Given the description of an element on the screen output the (x, y) to click on. 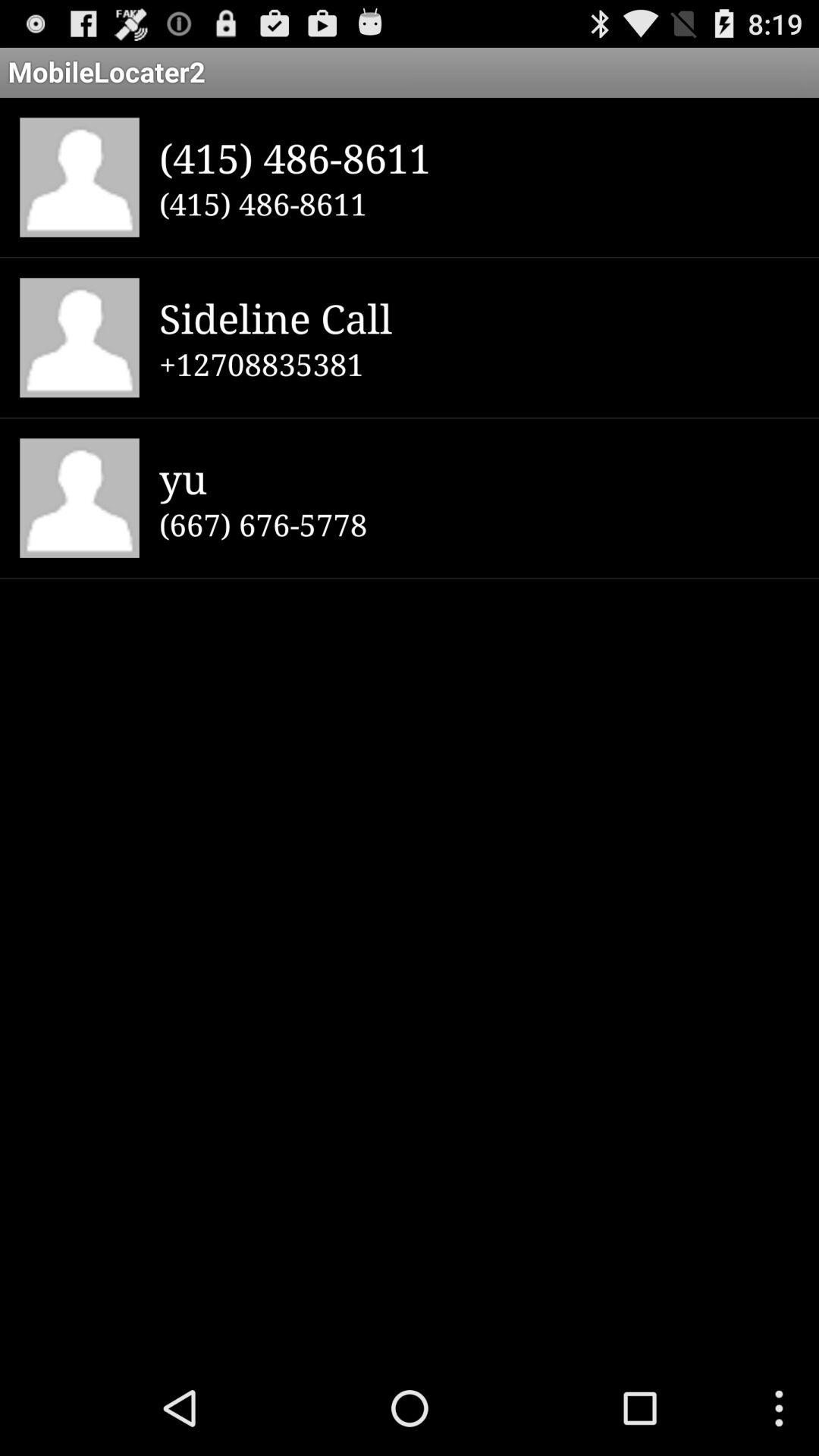
click icon above yu app (479, 363)
